Given the description of an element on the screen output the (x, y) to click on. 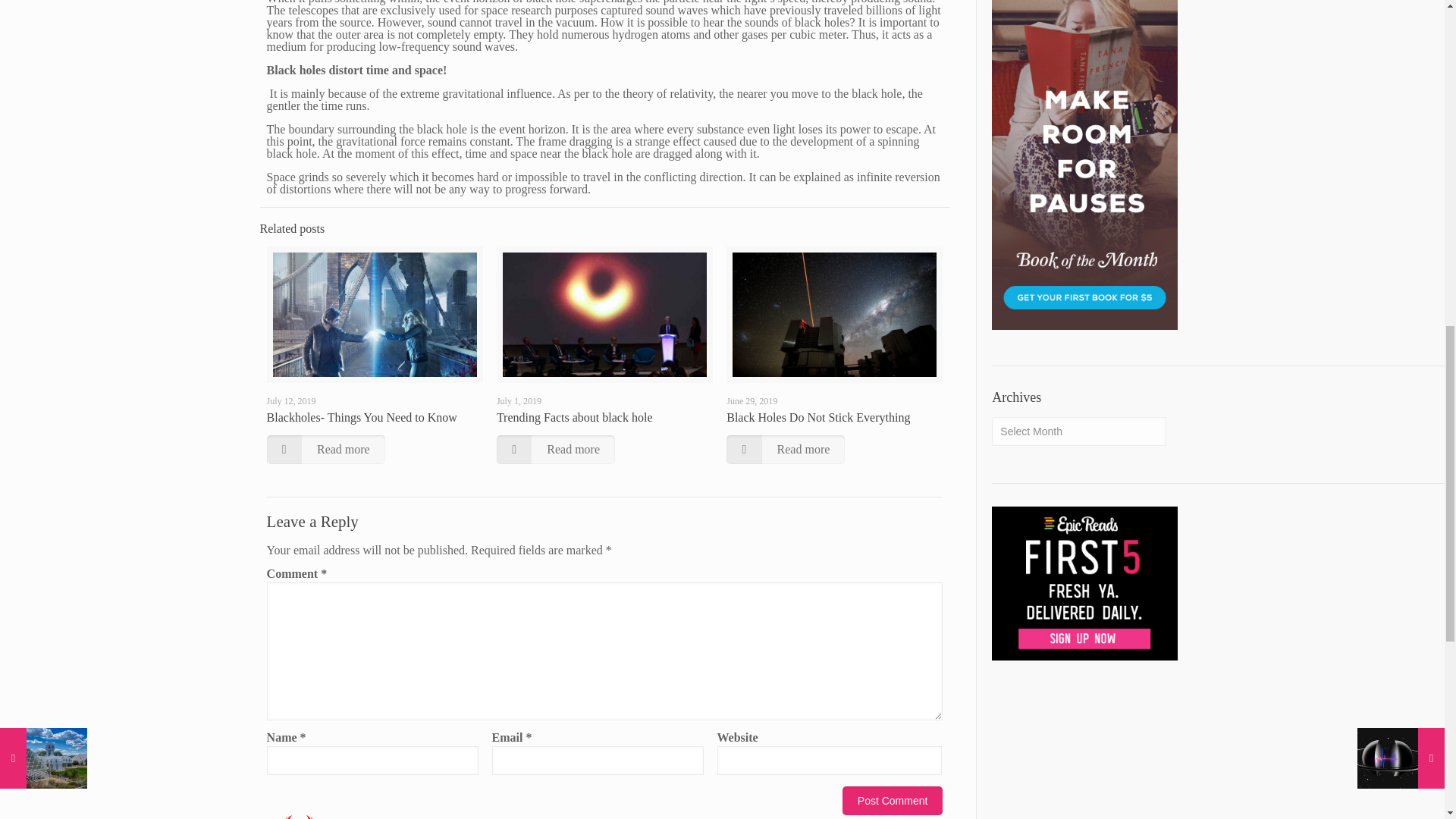
Read more (555, 449)
Post Comment (893, 800)
Blackholes- Things You Need to Know (361, 417)
Read more (325, 449)
Trending Facts about black hole (574, 417)
Read more (785, 449)
Post Comment (893, 800)
Black Holes Do Not Stick Everything (818, 417)
